Given the description of an element on the screen output the (x, y) to click on. 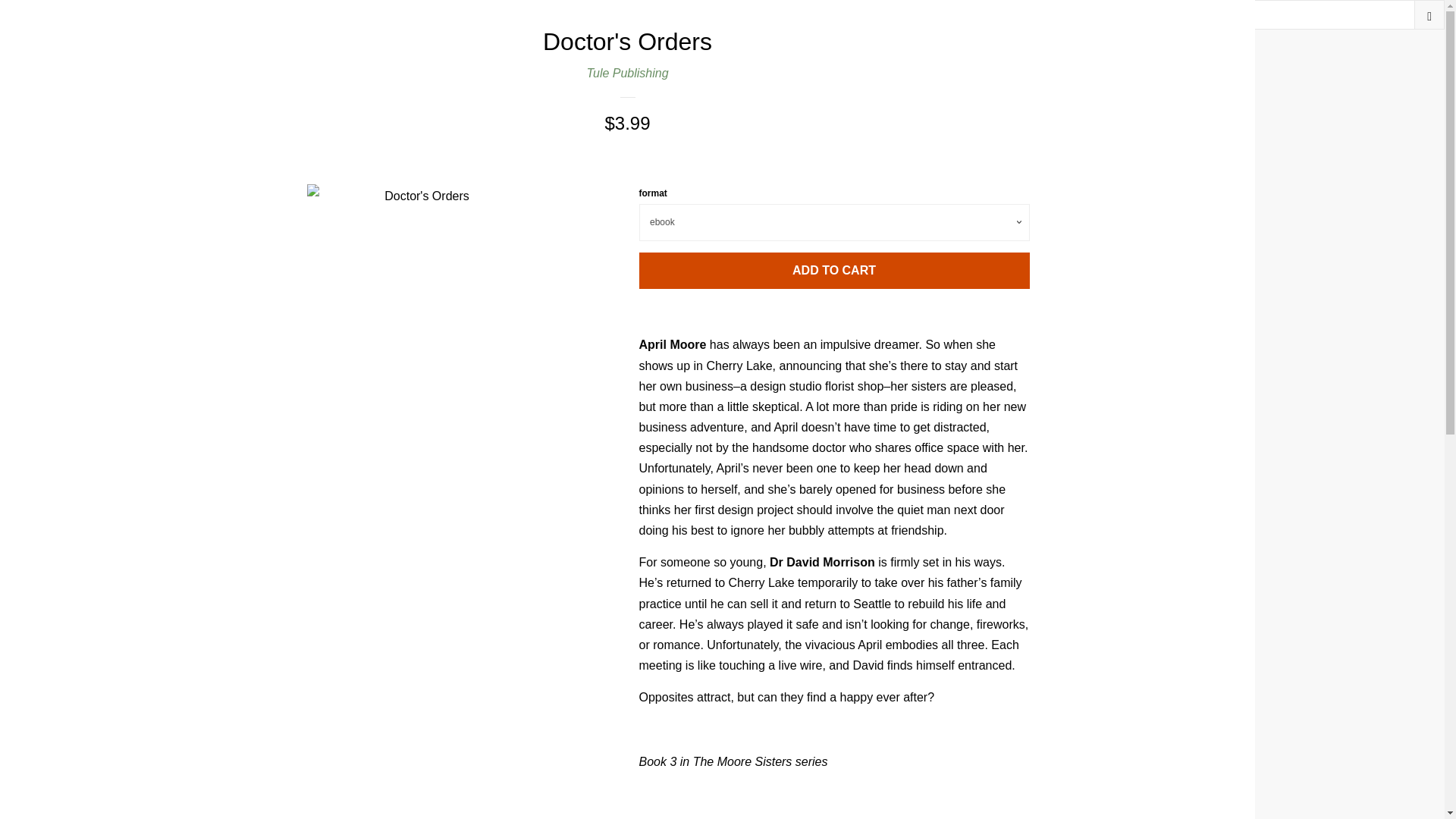
SEARCH (1429, 14)
